Given the description of an element on the screen output the (x, y) to click on. 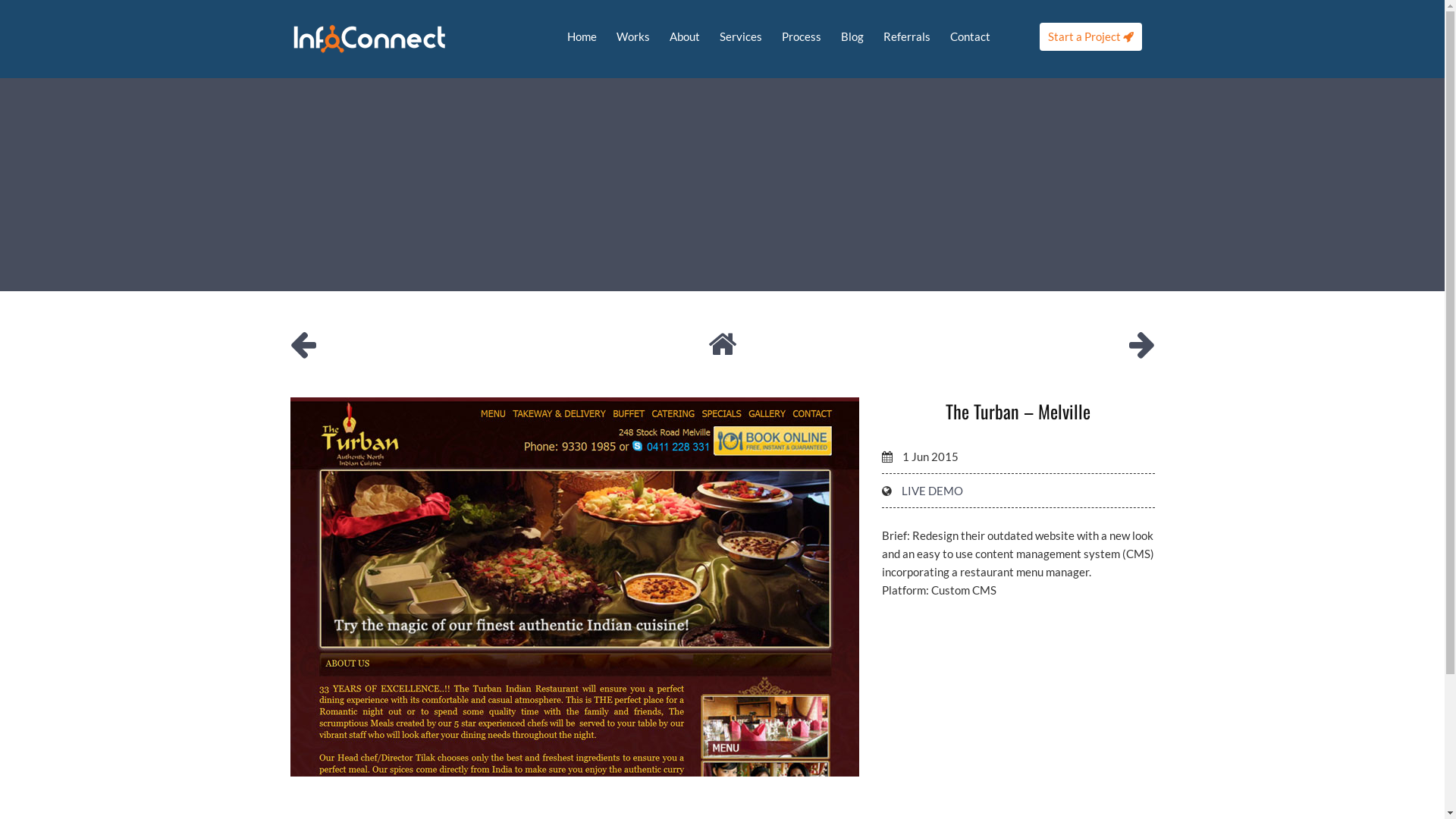
Referrals Element type: text (906, 36)
Works Element type: text (633, 36)
Blog Element type: text (852, 36)
About Element type: text (684, 36)
Services Element type: text (740, 36)
Contact Element type: text (969, 36)
Infoconnect Element type: hover (368, 37)
Process Element type: text (801, 36)
Home Element type: text (581, 36)
Start a Project Element type: text (1089, 36)
LIVE DEMO Element type: text (931, 490)
